Given the description of an element on the screen output the (x, y) to click on. 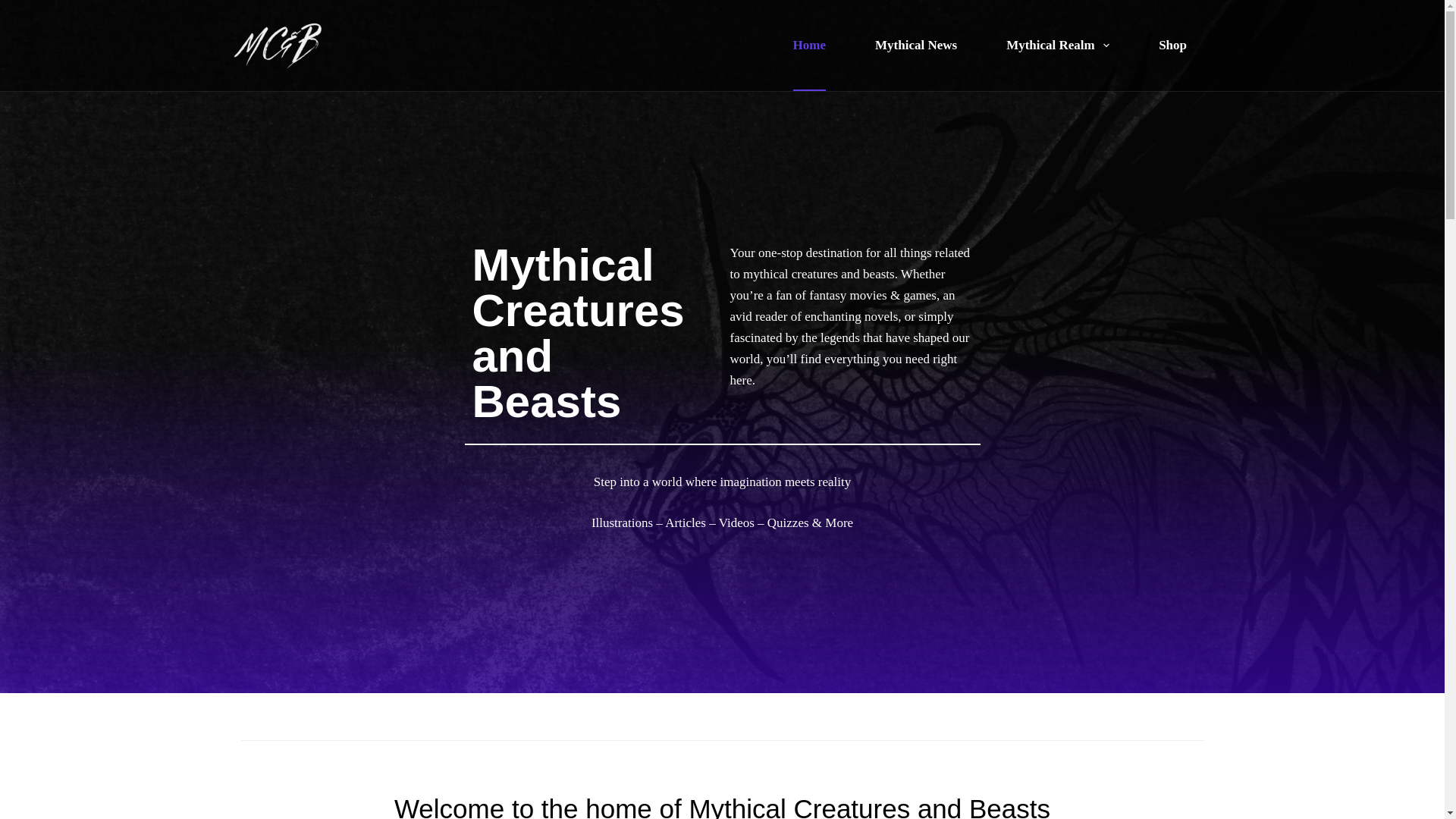
Mythical News (915, 45)
Mythical Realm (1057, 45)
Skip to content (15, 7)
Home (809, 45)
